Given the description of an element on the screen output the (x, y) to click on. 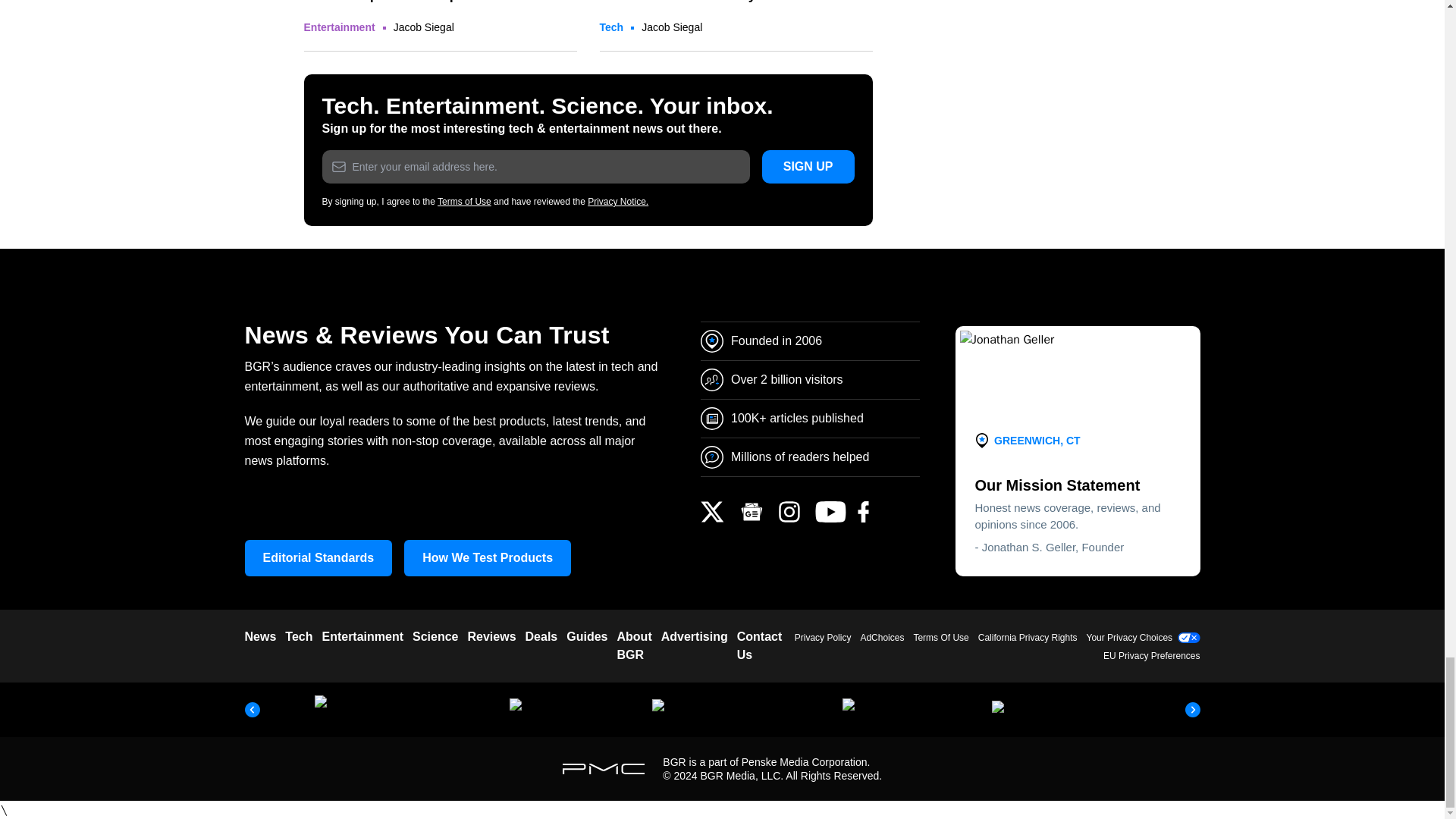
Posts by Jacob Siegal (423, 27)
